Given the description of an element on the screen output the (x, y) to click on. 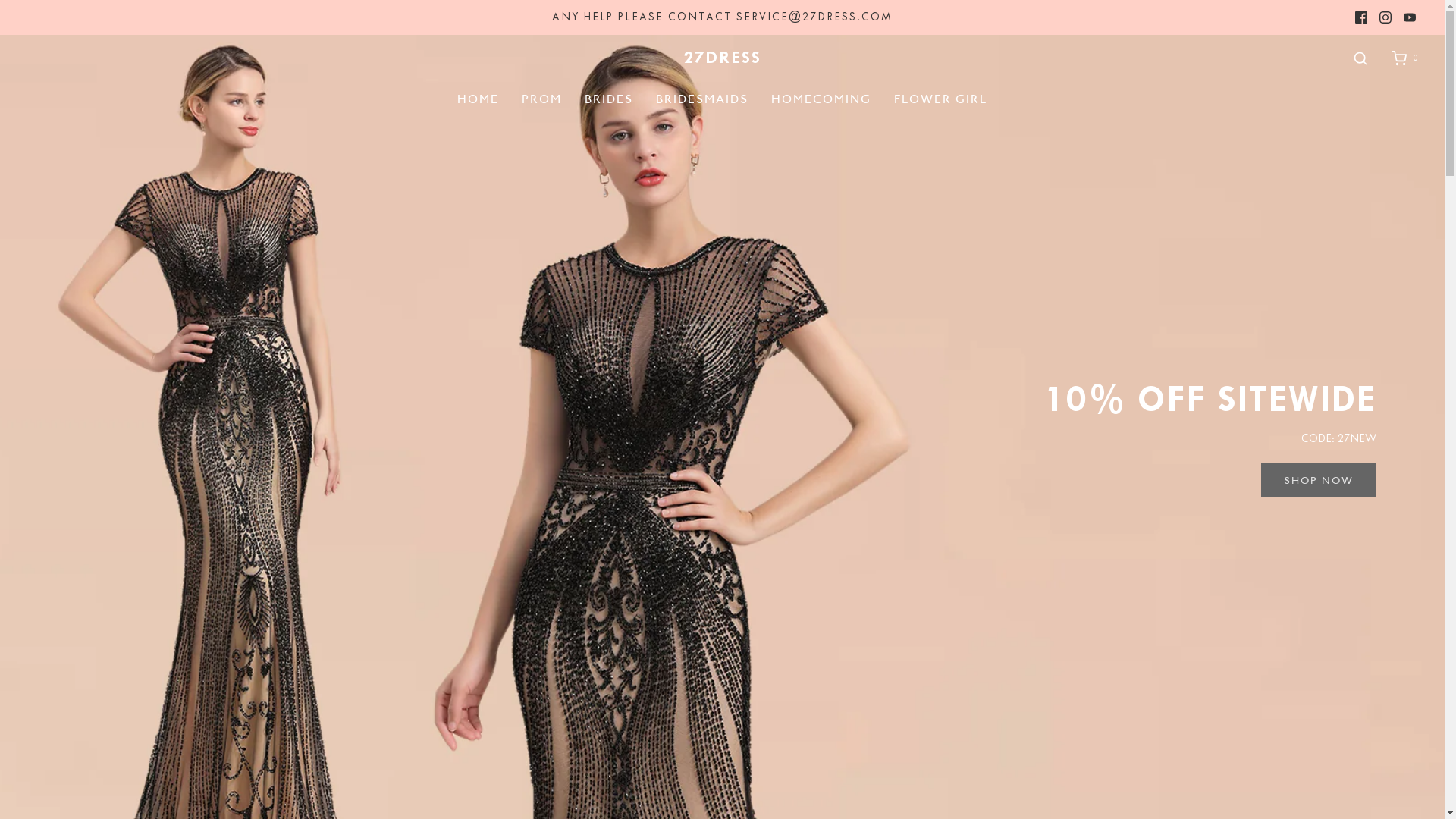
Search Element type: hover (1360, 58)
0 Element type: text (1403, 58)
YOUTUBE ICON Element type: text (1409, 17)
27DRESS Element type: text (722, 58)
BRIDESMAIDS Element type: text (701, 98)
BRIDES Element type: text (608, 98)
SHOP NOW Element type: text (1318, 480)
HOMECOMING Element type: text (821, 98)
CODE: 27NEW Element type: text (1338, 437)
FACEBOOK ICON Element type: text (1361, 17)
10% OFF SITEWIDE Element type: text (1210, 397)
PROM Element type: text (541, 98)
HOME Element type: text (477, 98)
INSTAGRAM ICON Element type: text (1385, 17)
FLOWER GIRL Element type: text (940, 98)
